Given the description of an element on the screen output the (x, y) to click on. 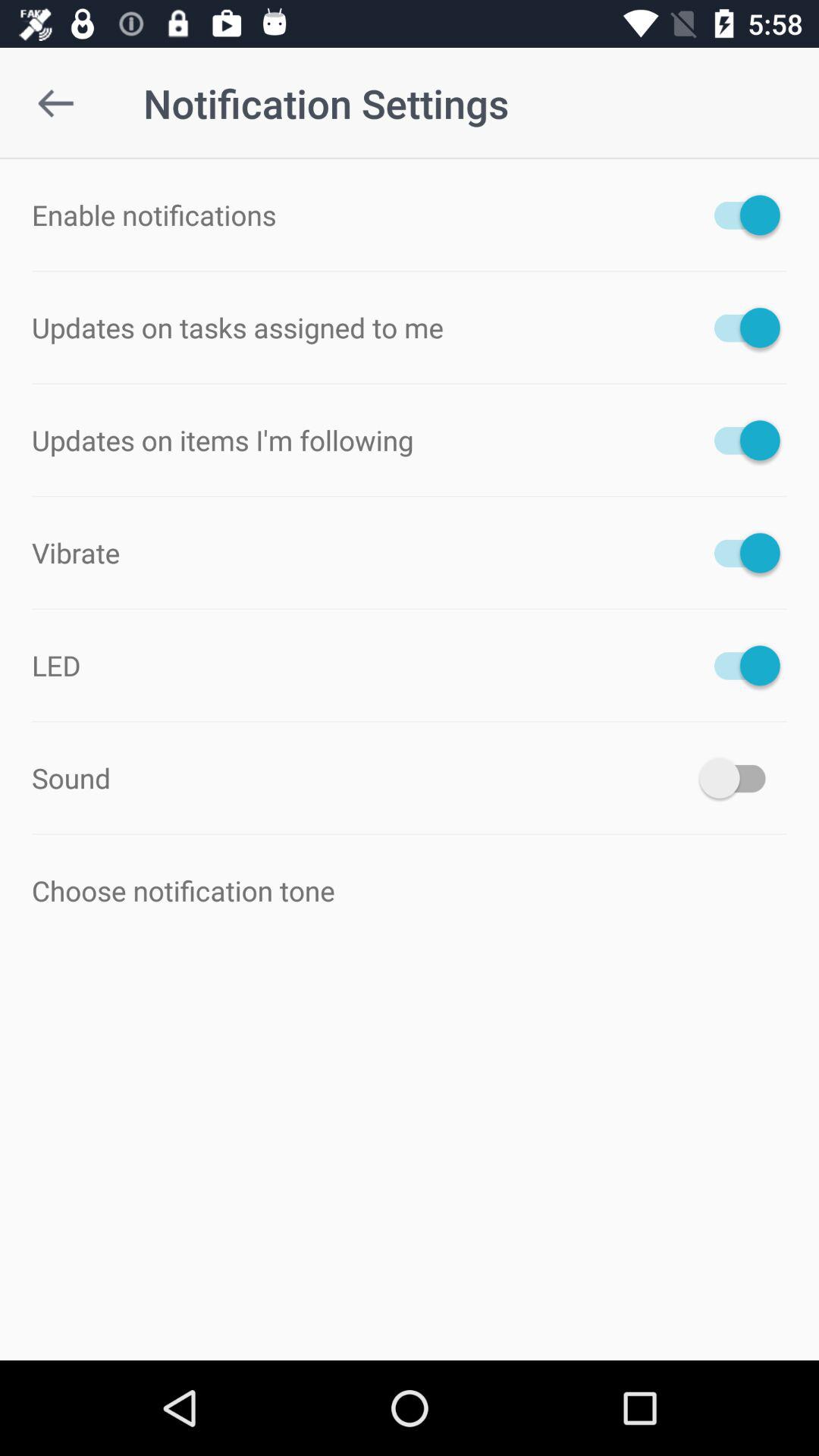
select icon next to the enable notifications icon (739, 214)
